Given the description of an element on the screen output the (x, y) to click on. 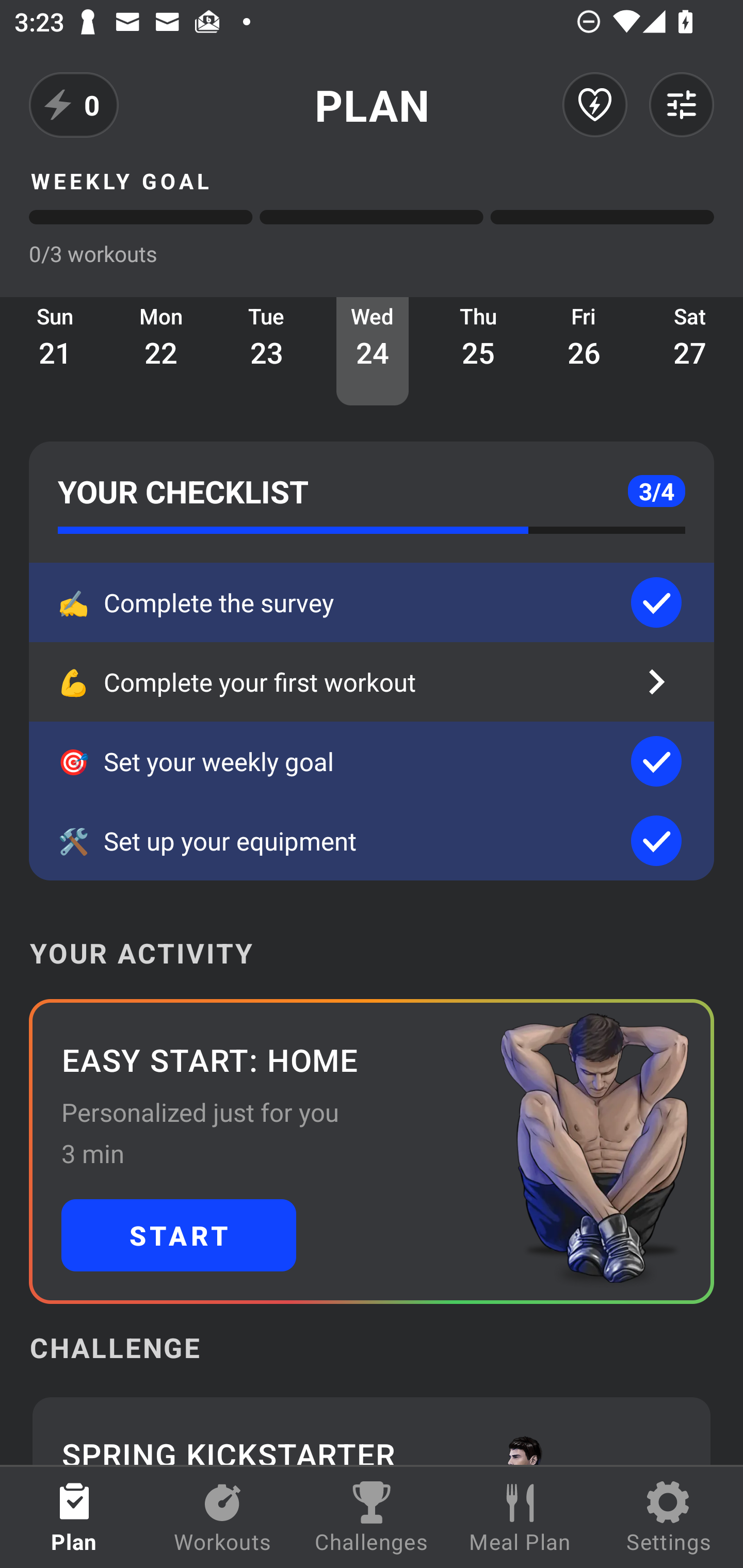
0 (73, 104)
Sun 21 (55, 351)
Mon 22 (160, 351)
Tue 23 (266, 351)
Wed 24 (372, 351)
Thu 25 (478, 351)
Fri 26 (584, 351)
Sat 27 (690, 351)
💪 Complete your first workout (371, 681)
START (178, 1235)
 Workouts  (222, 1517)
 Challenges  (371, 1517)
 Meal Plan  (519, 1517)
 Settings  (668, 1517)
